Given the description of an element on the screen output the (x, y) to click on. 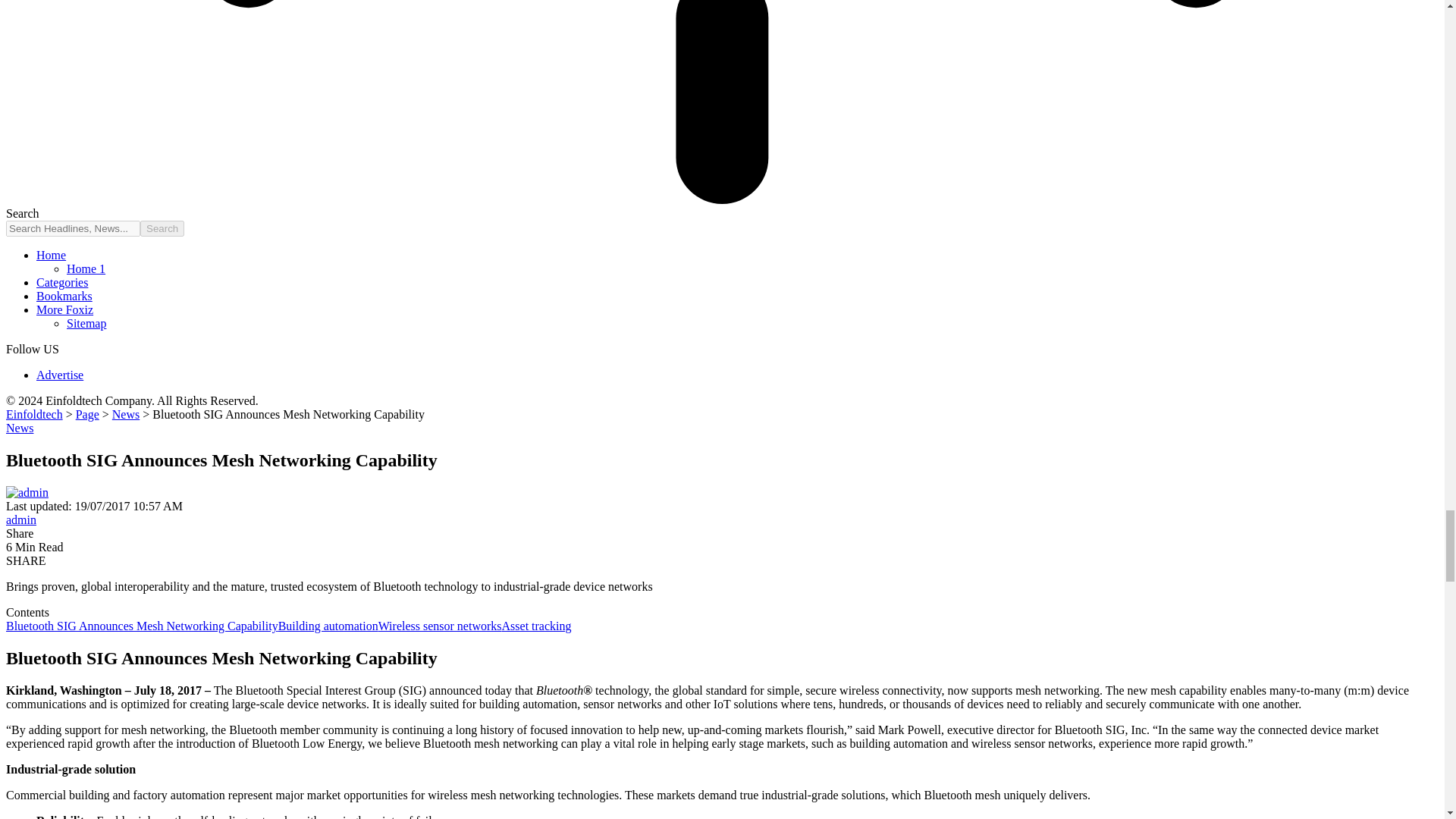
News (19, 427)
Categories (61, 282)
Sitemap (86, 323)
More Foxiz (64, 309)
Go to the News Category archives. (125, 413)
Bookmarks (64, 295)
Go to Page. (87, 413)
Search (161, 228)
Go to Einfoldtech. (33, 413)
Advertise (59, 374)
News (125, 413)
Page (87, 413)
Home 1 (85, 268)
Home (50, 254)
admin (20, 519)
